Given the description of an element on the screen output the (x, y) to click on. 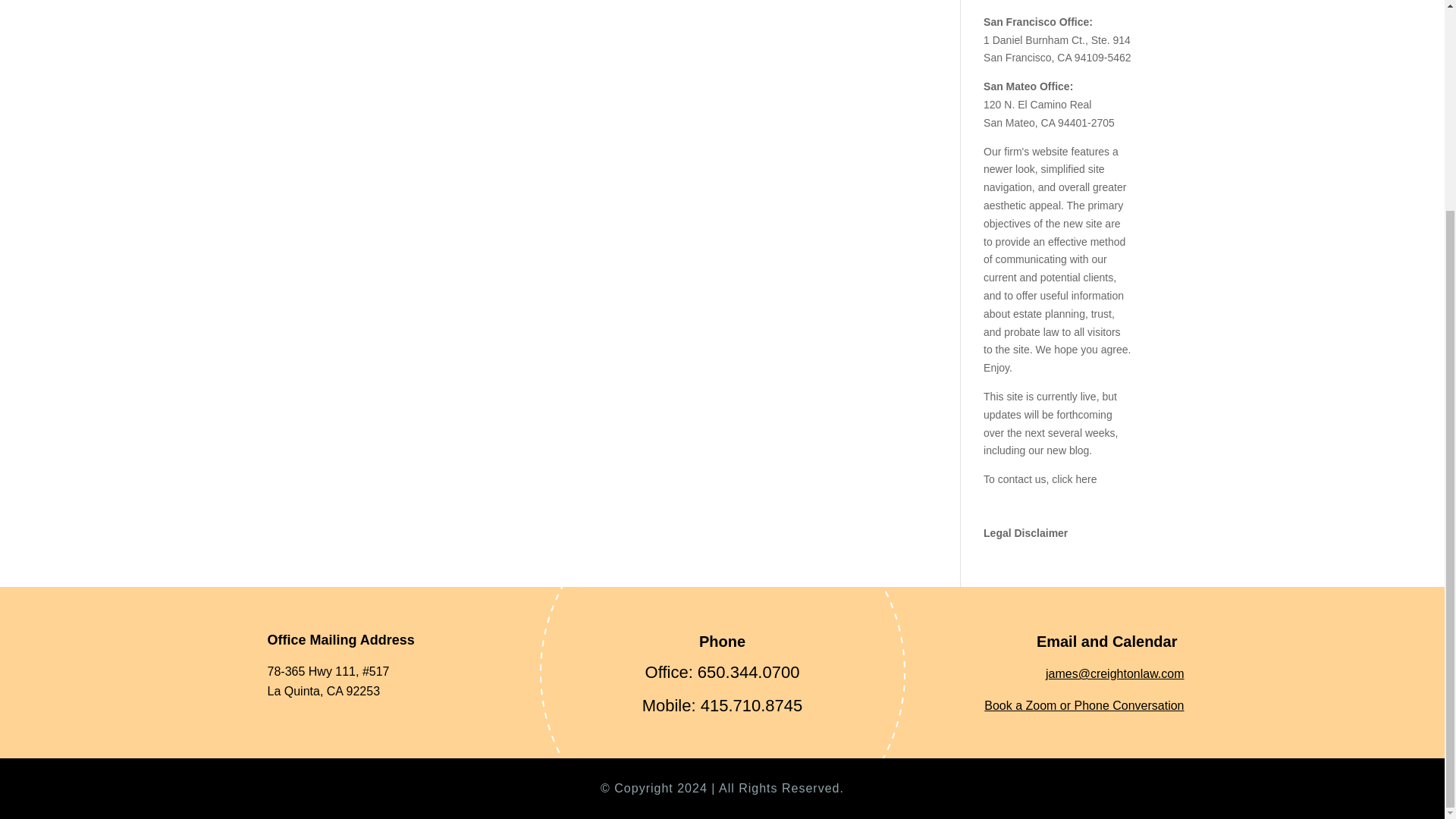
Book a Zoom or Phone Conversation (1083, 705)
click here (1073, 479)
Information Regarding This Website (1025, 532)
Legal Disclaimer (1025, 532)
